Given the description of an element on the screen output the (x, y) to click on. 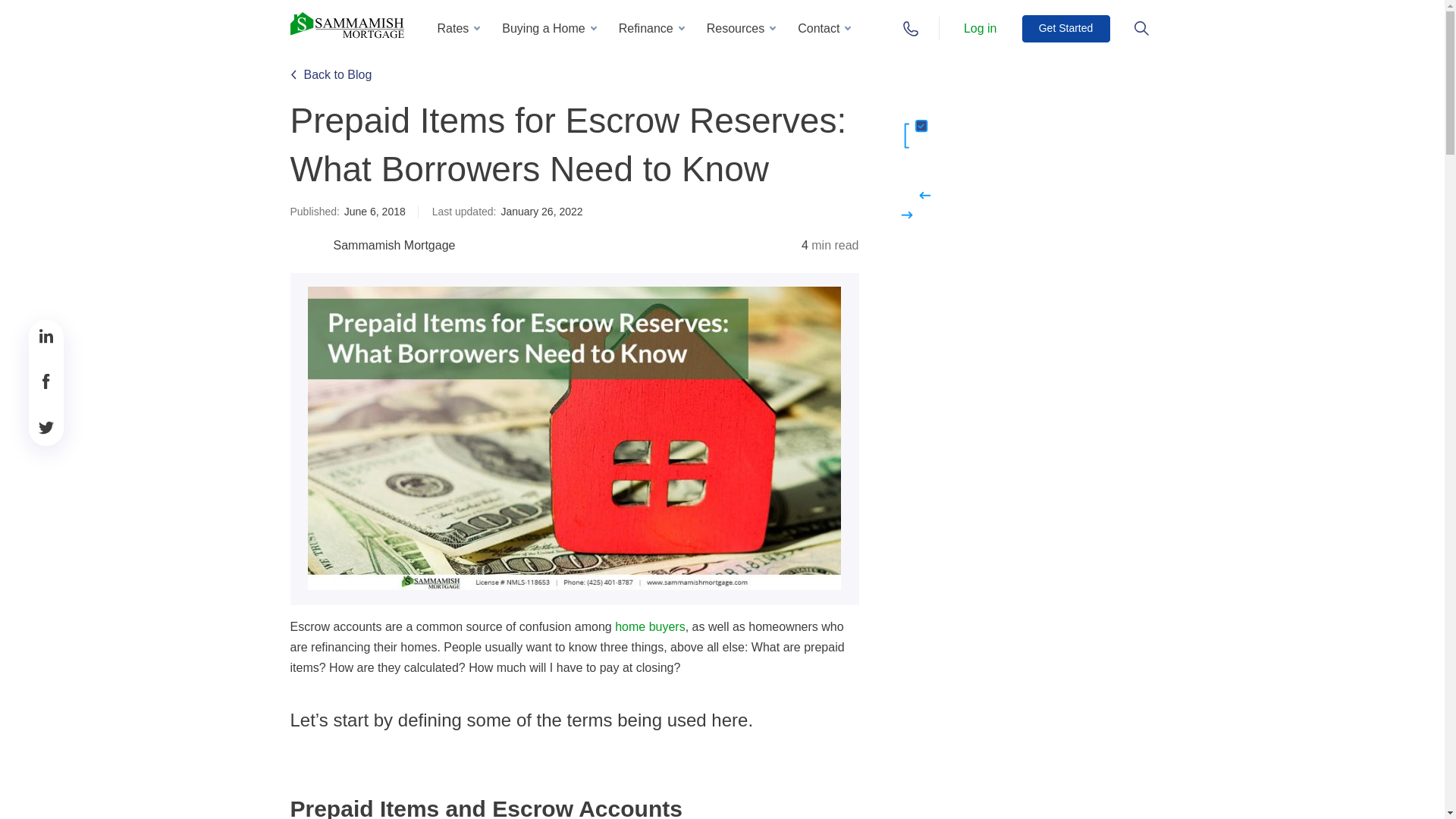
Resources (740, 27)
Back to Blog (330, 74)
Buying a Home (548, 27)
Refinance (651, 27)
Rates (458, 27)
Log in (979, 28)
Get Started (1065, 28)
Contact (824, 27)
